Given the description of an element on the screen output the (x, y) to click on. 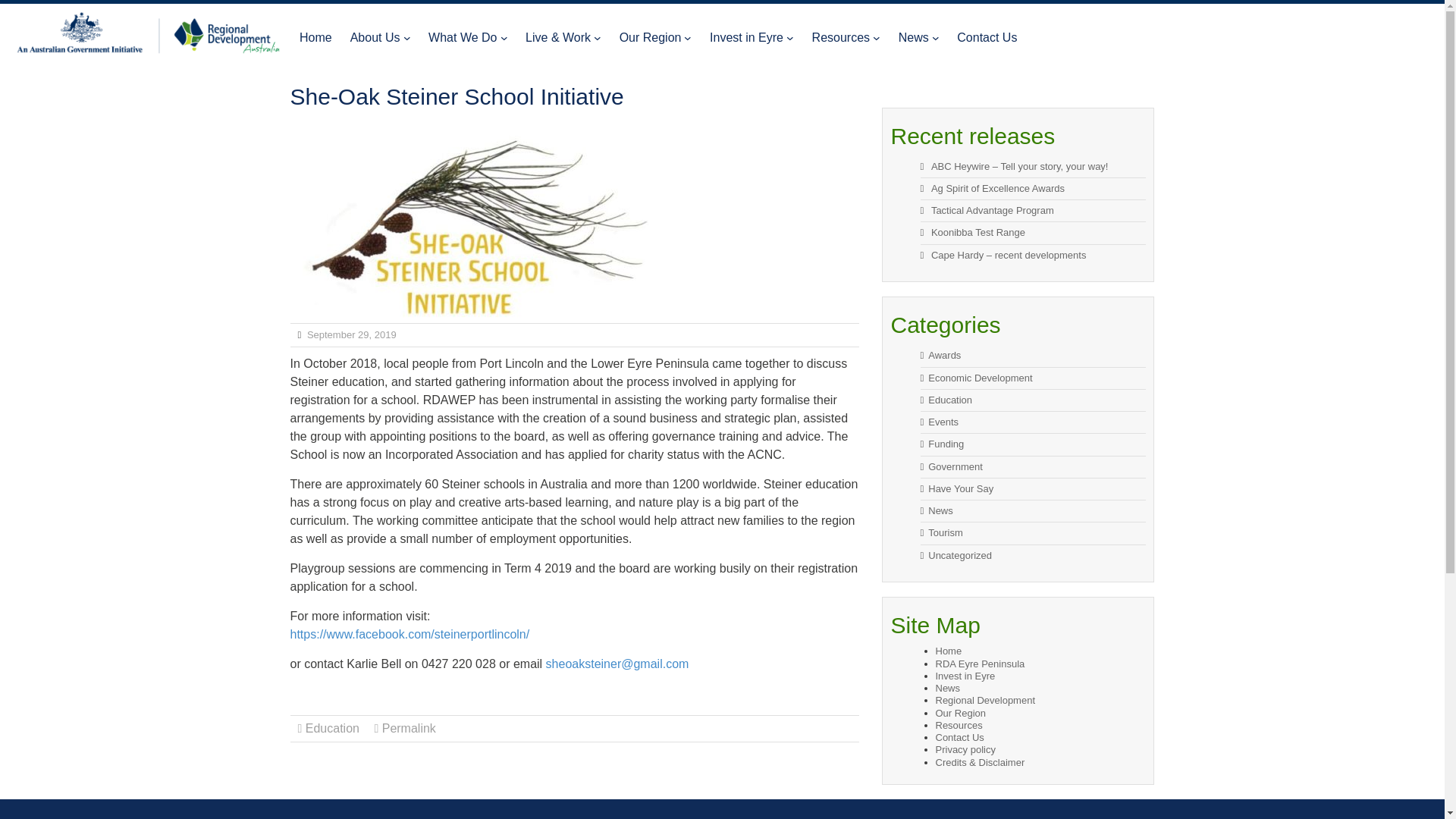
Our Region (650, 37)
Home (315, 37)
What We Do (462, 37)
Invest in Eyre (746, 37)
About Us (375, 37)
